Given the description of an element on the screen output the (x, y) to click on. 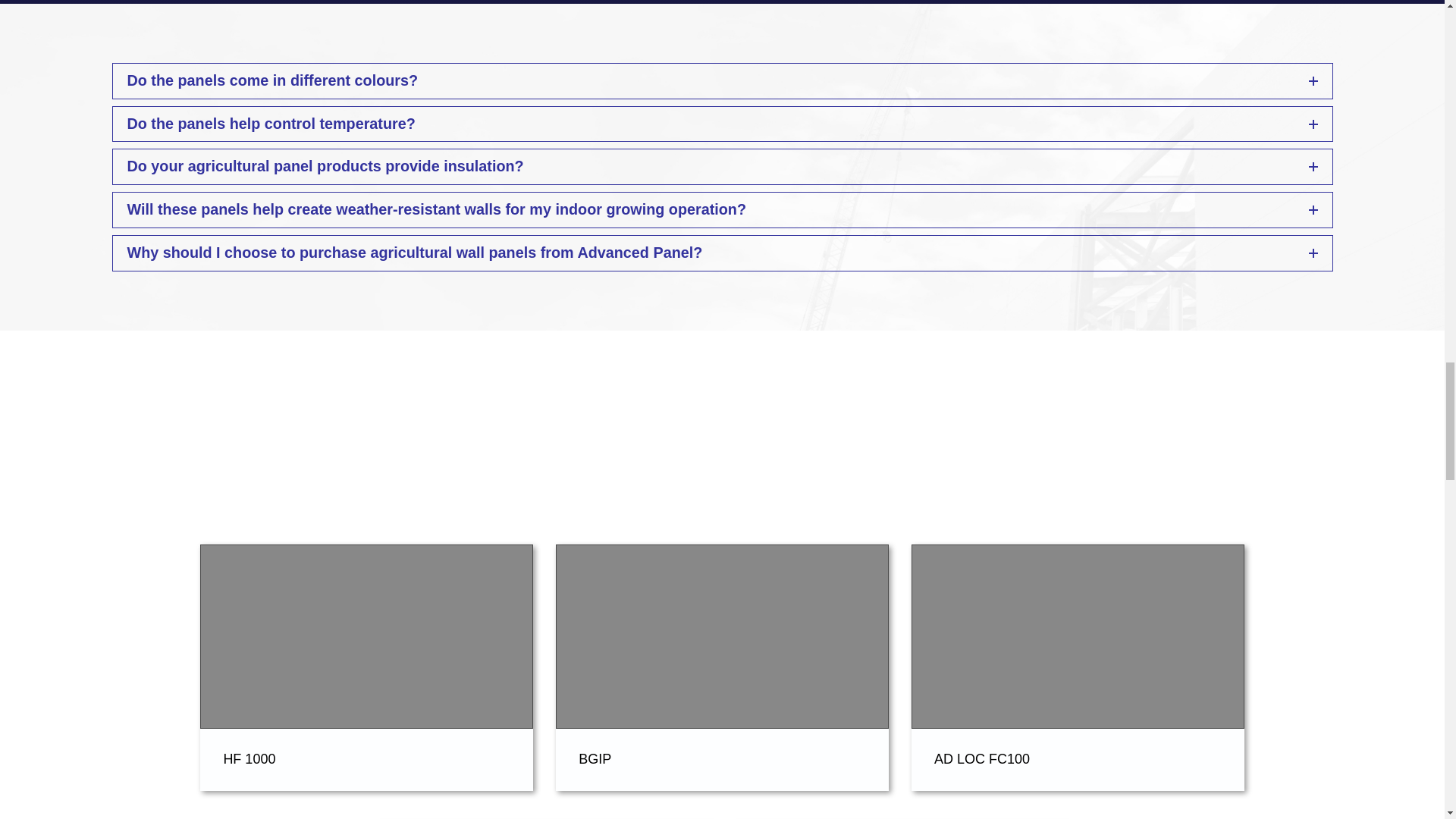
Do the panels come in different colours? (722, 81)
Do your agricultural panel products provide insulation? (722, 166)
AD LOC FC100 (981, 758)
Do the panels help control temperature? (722, 123)
HF 1000 (248, 758)
BGIP (594, 758)
